Given the description of an element on the screen output the (x, y) to click on. 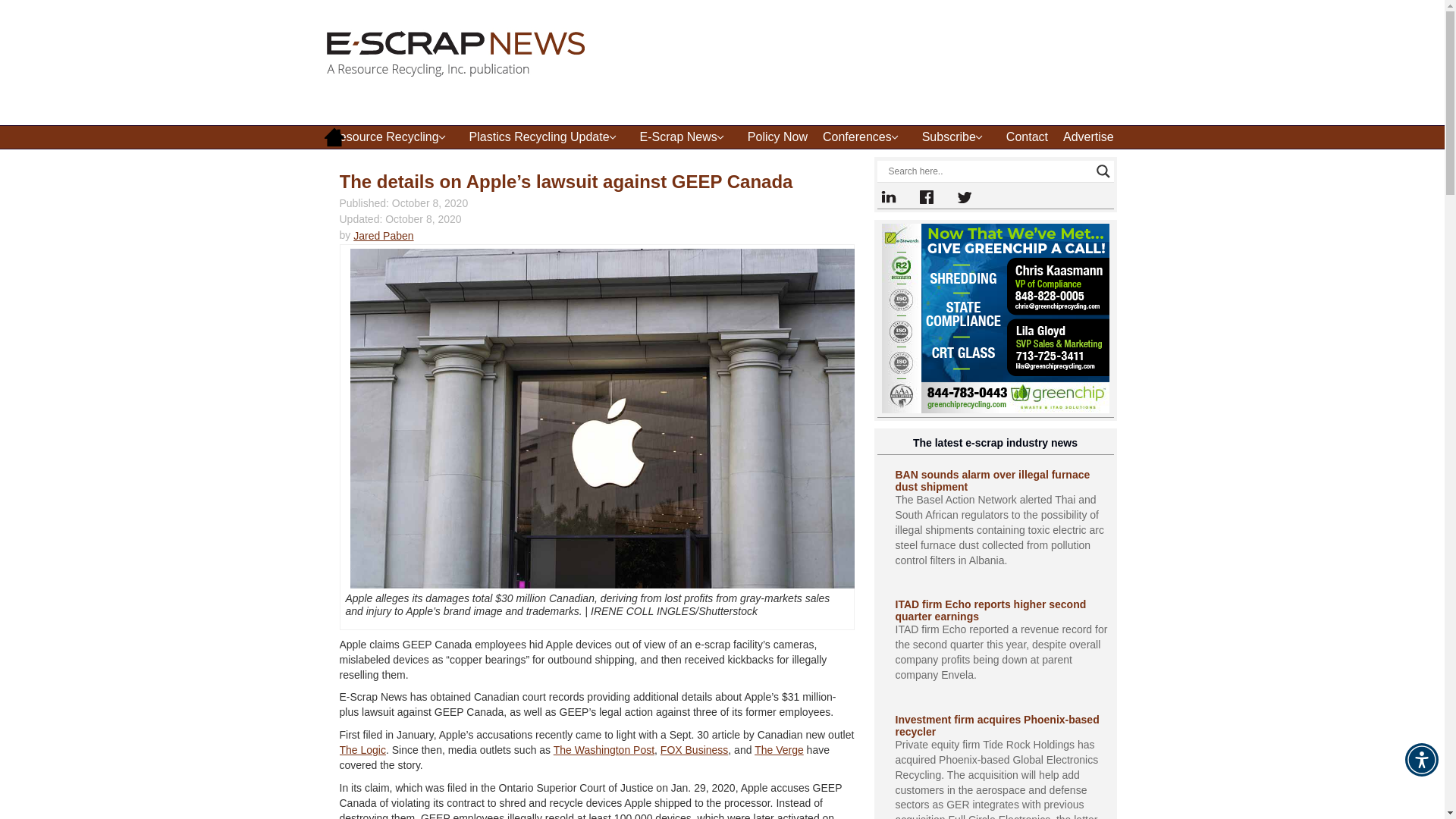
Subscribe (956, 137)
Plastics Recycling Update (546, 137)
Accessibility Menu (1421, 759)
View all posts by Jared Paben (383, 235)
Policy Now (777, 137)
Contact (1026, 137)
Advertise (1088, 137)
E-Scrap News (685, 137)
Conferences (864, 137)
Resource Recycling (392, 137)
